Given the description of an element on the screen output the (x, y) to click on. 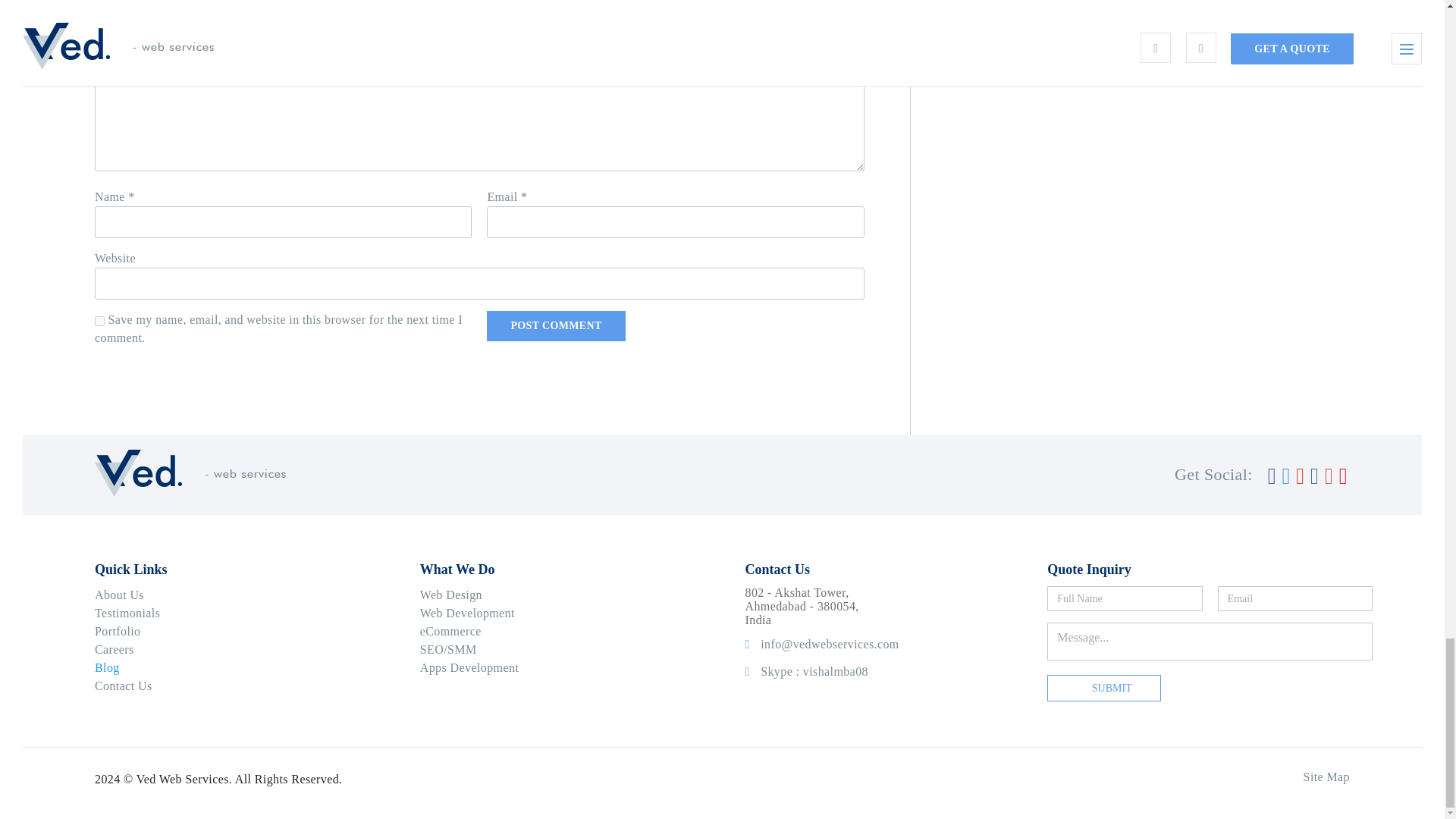
yes (99, 320)
Submit (1104, 688)
Post Comment (555, 326)
